Given the description of an element on the screen output the (x, y) to click on. 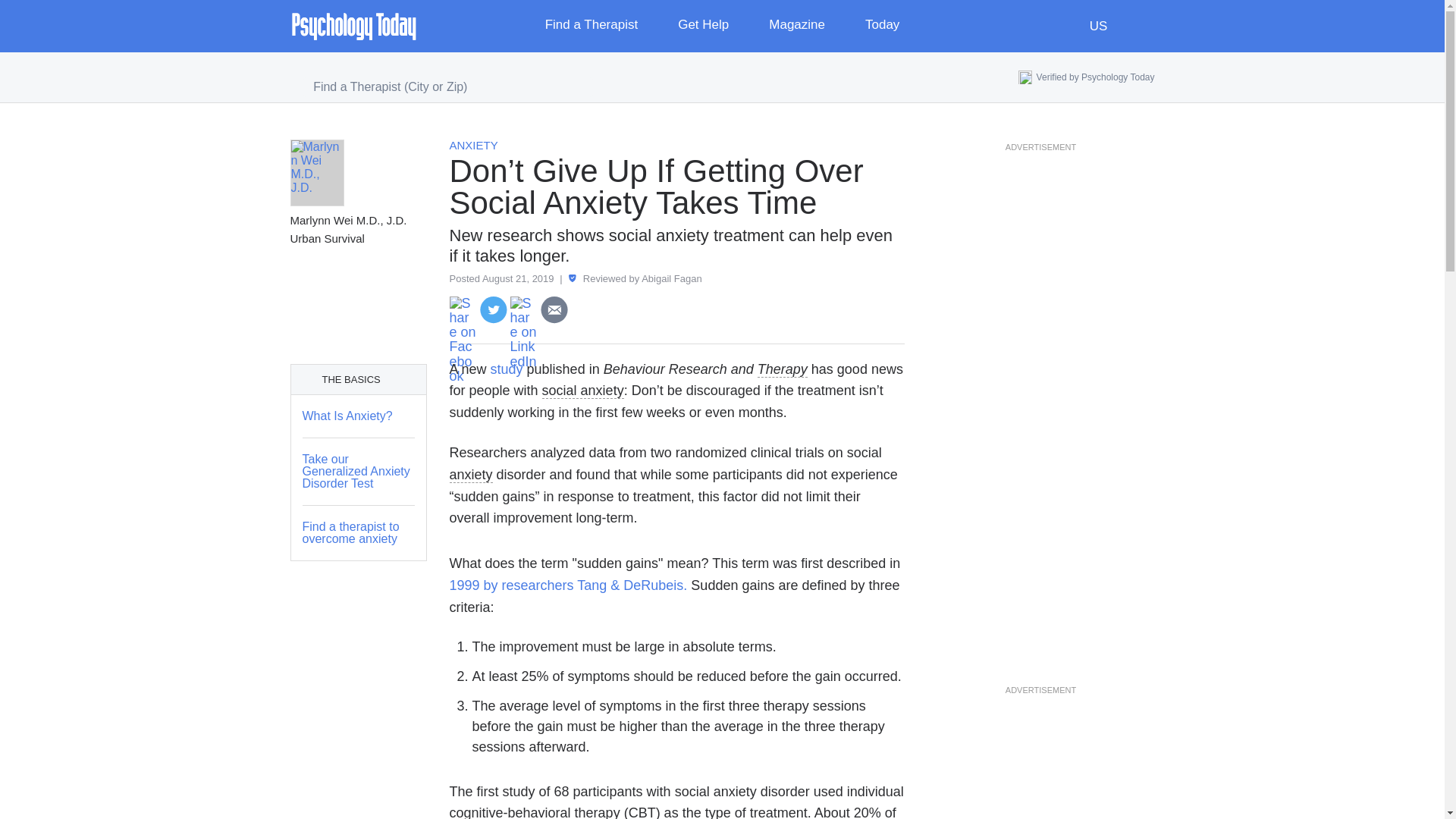
Psychology Today (352, 25)
Get Help (714, 25)
Find a Therapist (602, 25)
